Given the description of an element on the screen output the (x, y) to click on. 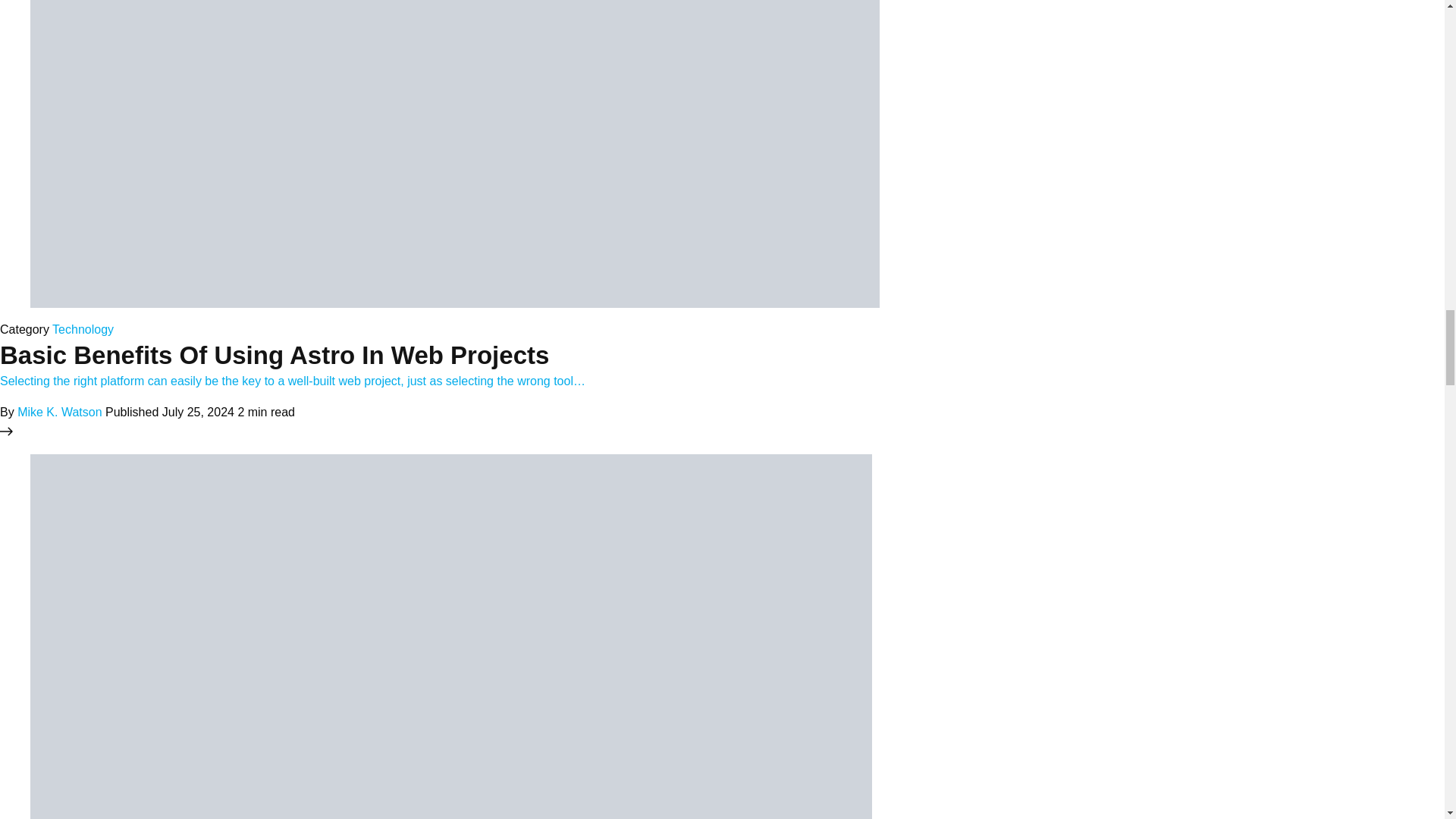
Mike K. Watson (59, 411)
Technology (82, 328)
